Given the description of an element on the screen output the (x, y) to click on. 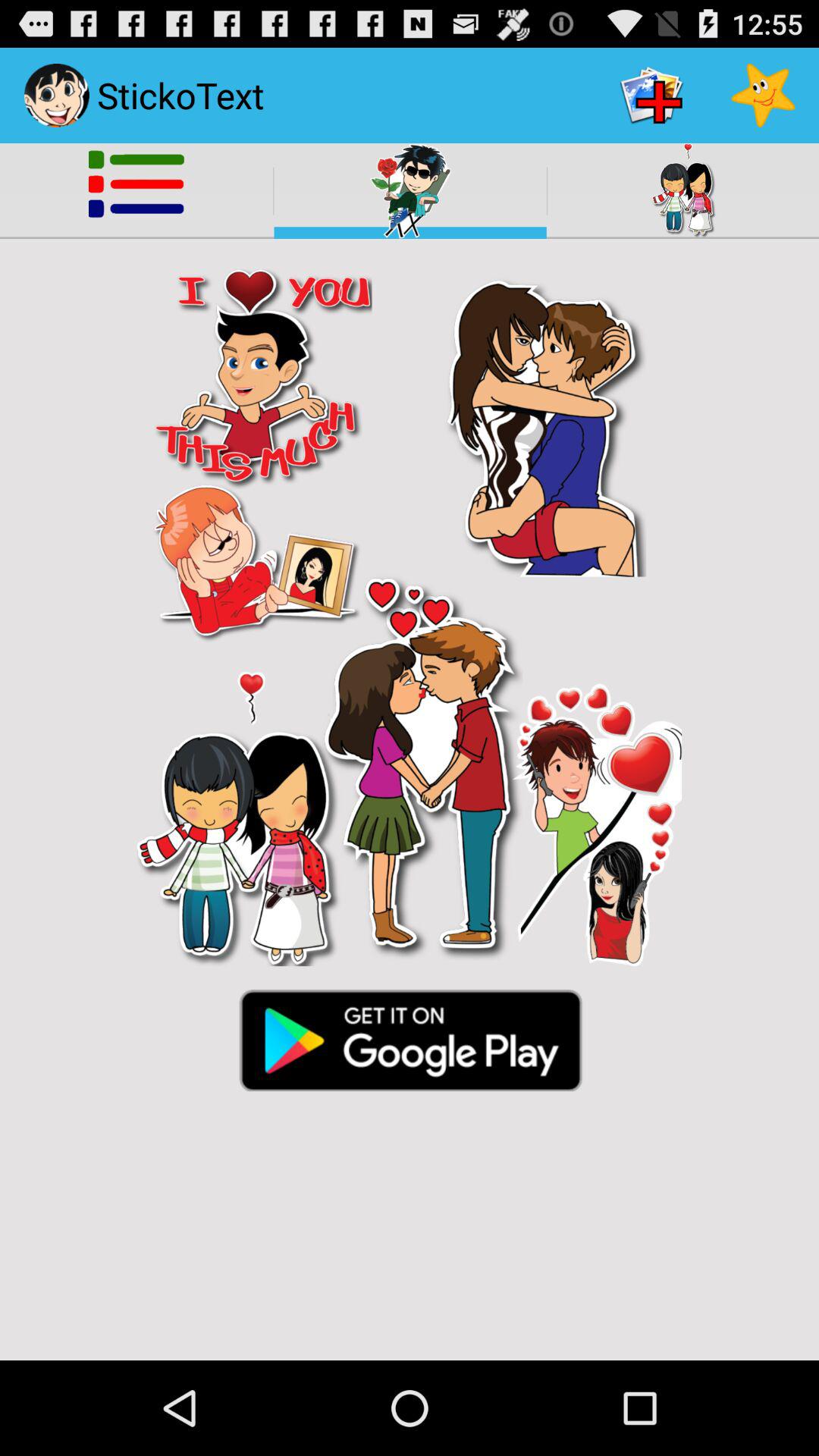
go to google playstore (409, 1038)
